Given the description of an element on the screen output the (x, y) to click on. 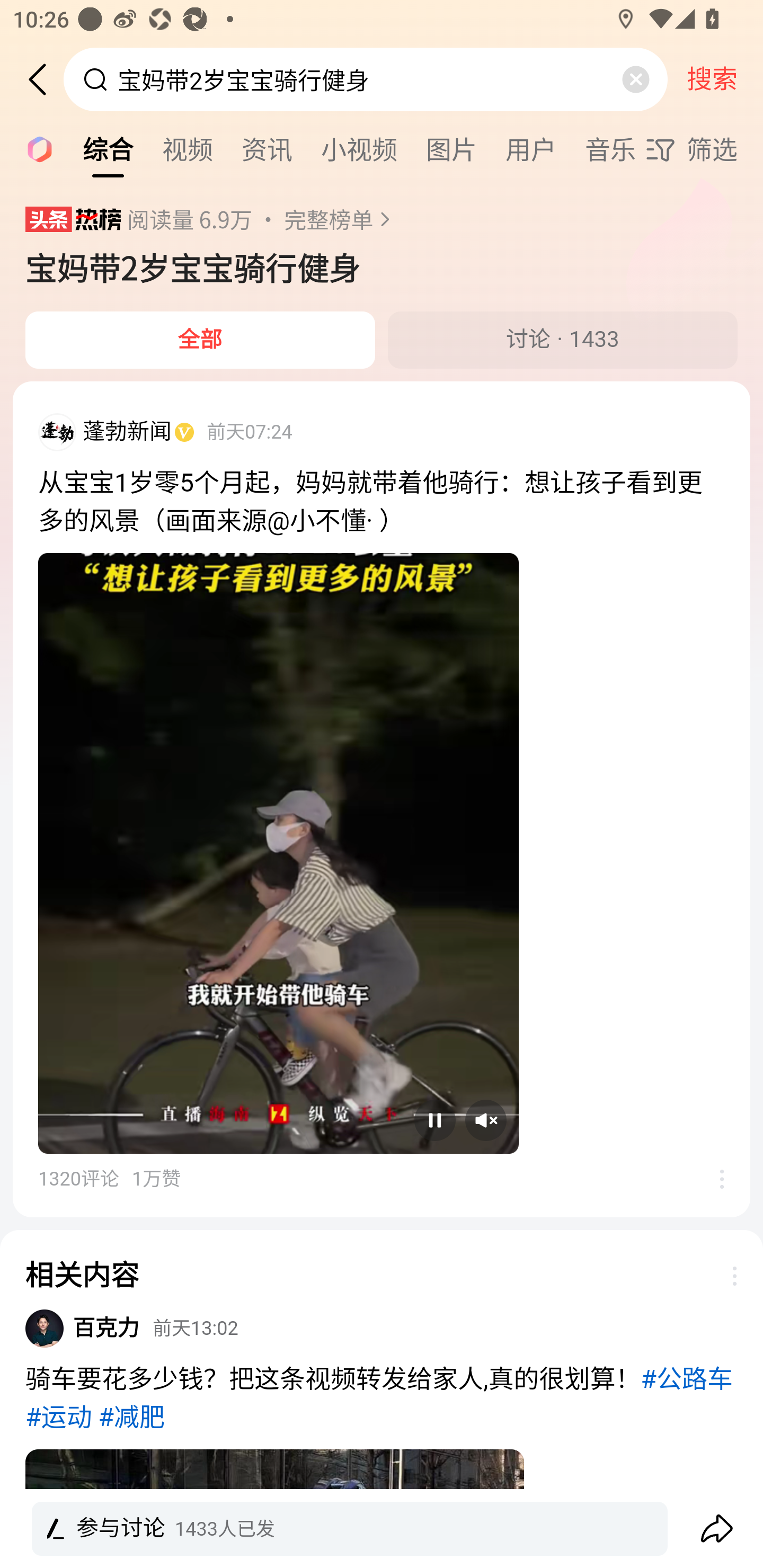
搜索框，宝妈带2岁宝宝骑行健身 (366, 79)
搜索 (711, 79)
返回 (44, 79)
清除 (635, 79)
视频 (187, 148)
资讯 (266, 148)
小视频 (359, 148)
图片 (451, 148)
用户 (530, 148)
音乐 (610, 148)
筛选 (703, 149)
AI问答 (34, 148)
阅读量 6.9万 · 完整榜单 (264, 219)
全部 (200, 340)
讨论·1433 (562, 340)
蓬勃新闻 前天07:24 蓬勃新闻 前天07:24 (381, 438)
从宝宝1岁零5个月起，妈妈就带着他骑行：想让孩子看到更多的风景（画面来源@小不懂· ） (381, 502)
取消静音 (485, 1120)
举报反馈 (711, 1178)
举报反馈 (724, 1275)
百克力 前天13:02 百克力 前天13:02 (381, 1334)
百克力 前天13:02 (155, 1327)
#公路车 (687, 1379)
#运动 (58, 1417)
#减肥 (130, 1417)
参与讨论1433人已发 (381, 1528)
